Given the description of an element on the screen output the (x, y) to click on. 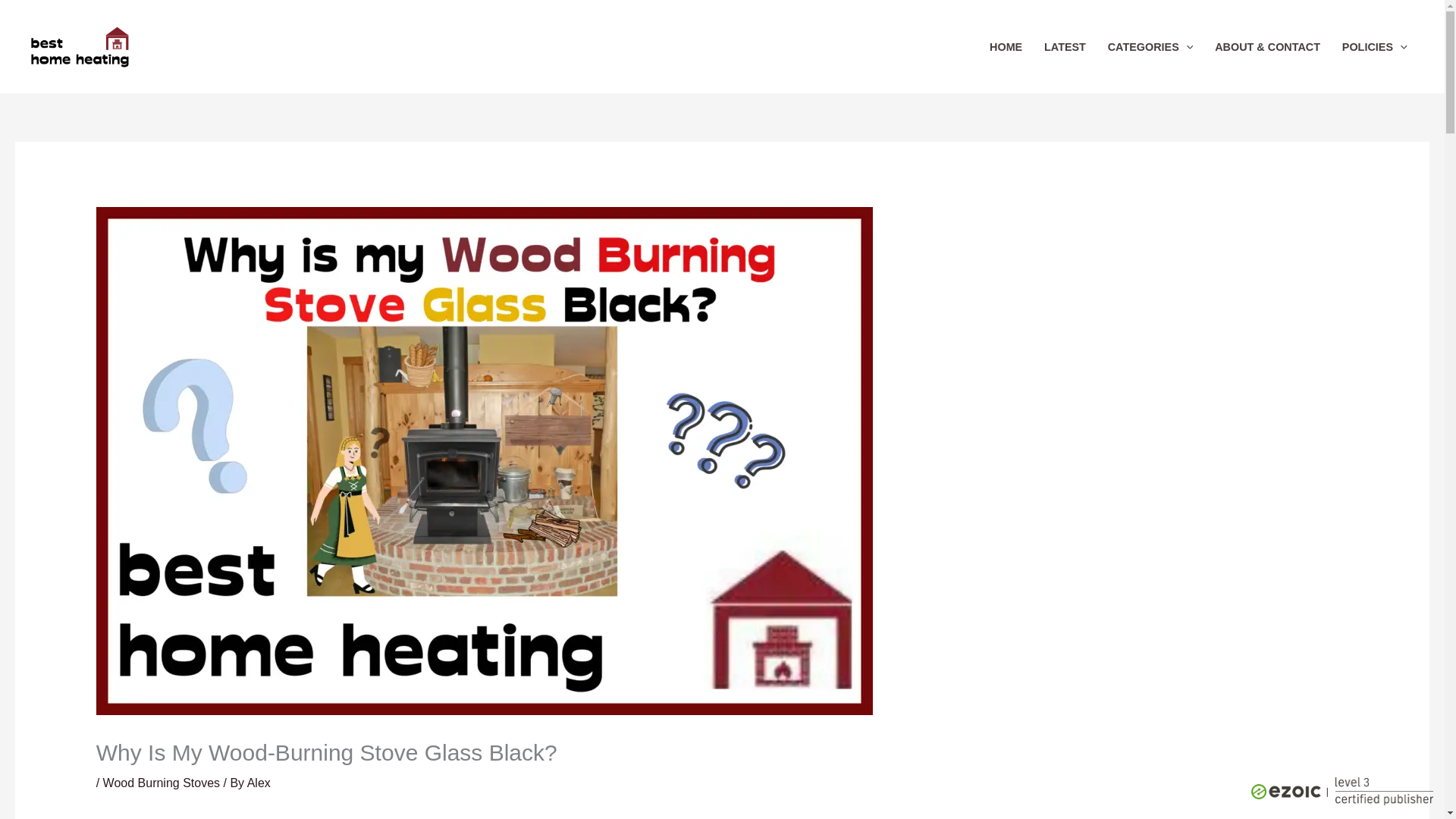
Alex (258, 782)
Wood Burning Stoves (161, 782)
HOME (1005, 46)
CATEGORIES (1150, 46)
View all posts by Alex (258, 782)
POLICIES (1374, 46)
LATEST (1065, 46)
